Given the description of an element on the screen output the (x, y) to click on. 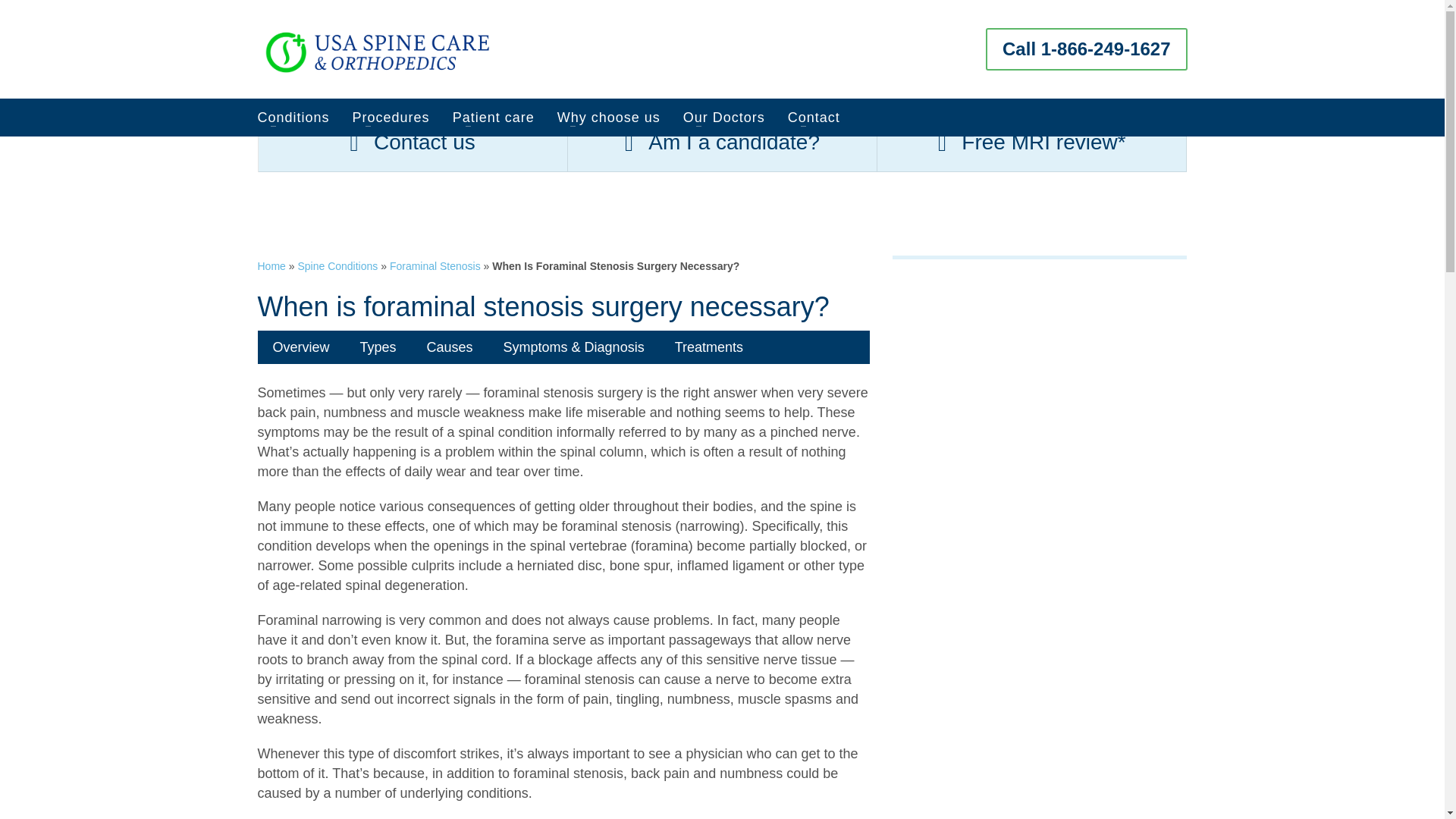
Conditions (303, 117)
Contact Us (412, 149)
Am I a Candidate? (722, 149)
Call 1-866-249-1627 (1085, 48)
Minimally Invasive Laser Spine Surgery (380, 48)
